Given the description of an element on the screen output the (x, y) to click on. 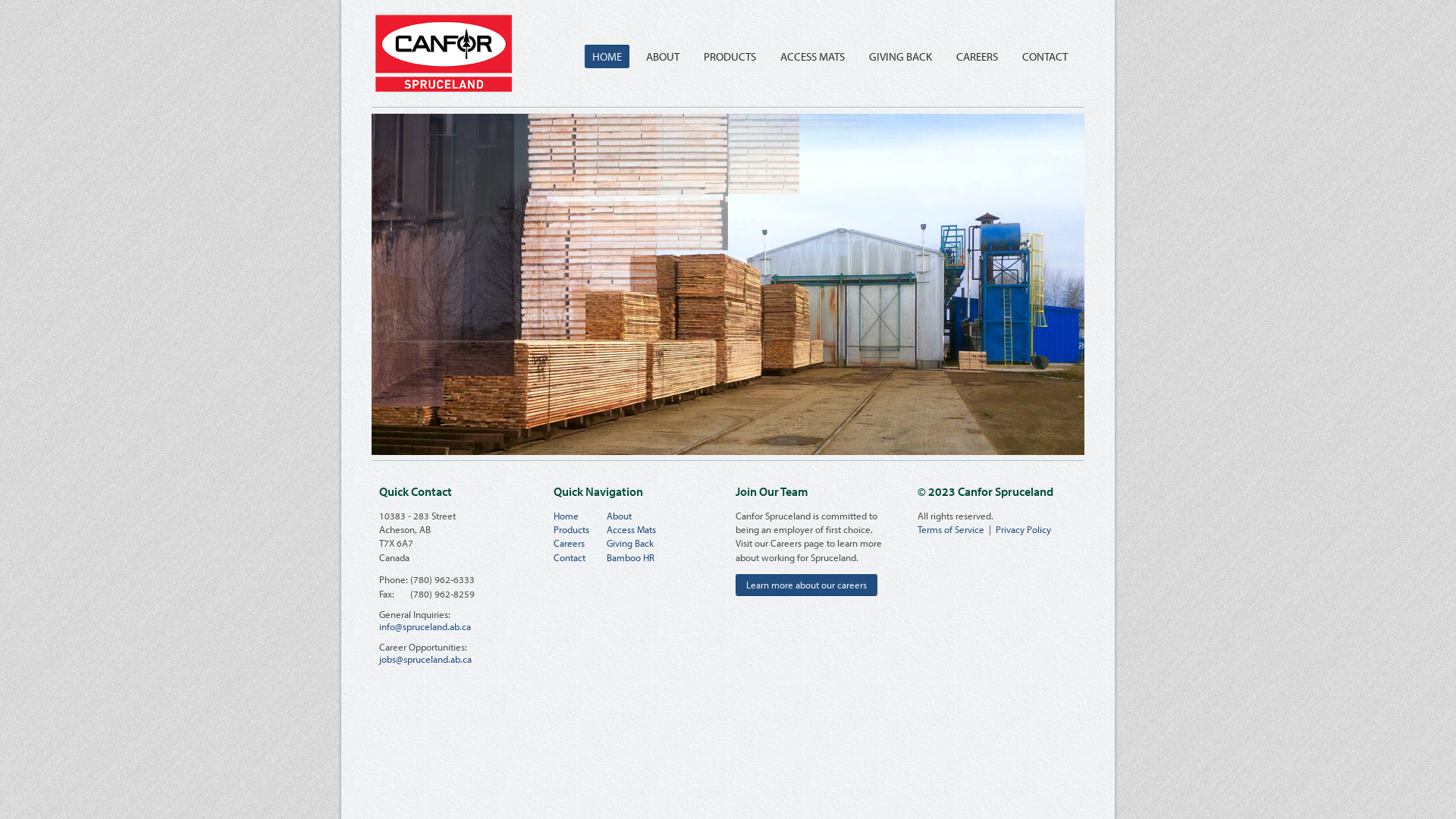
Home Element type: text (565, 515)
Privacy Policy Element type: text (1023, 529)
CAREERS Element type: text (976, 56)
Terms of Service Element type: text (950, 529)
info@spruceland.ab.ca Element type: text (424, 626)
Giving Back Element type: text (629, 542)
jobs@spruceland.ab.ca Element type: text (425, 658)
Products Element type: text (571, 529)
HOME Element type: text (606, 56)
PRODUCTS Element type: text (729, 56)
ACCESS MATS Element type: text (812, 56)
Bamboo HR Element type: text (630, 557)
Learn more about our careers Element type: text (806, 584)
GIVING BACK Element type: text (900, 56)
Careers Element type: text (568, 542)
CONTACT Element type: text (1044, 56)
Contact Element type: text (569, 557)
About Element type: text (618, 515)
Access Mats Element type: text (630, 529)
ABOUT Element type: text (662, 56)
